Given the description of an element on the screen output the (x, y) to click on. 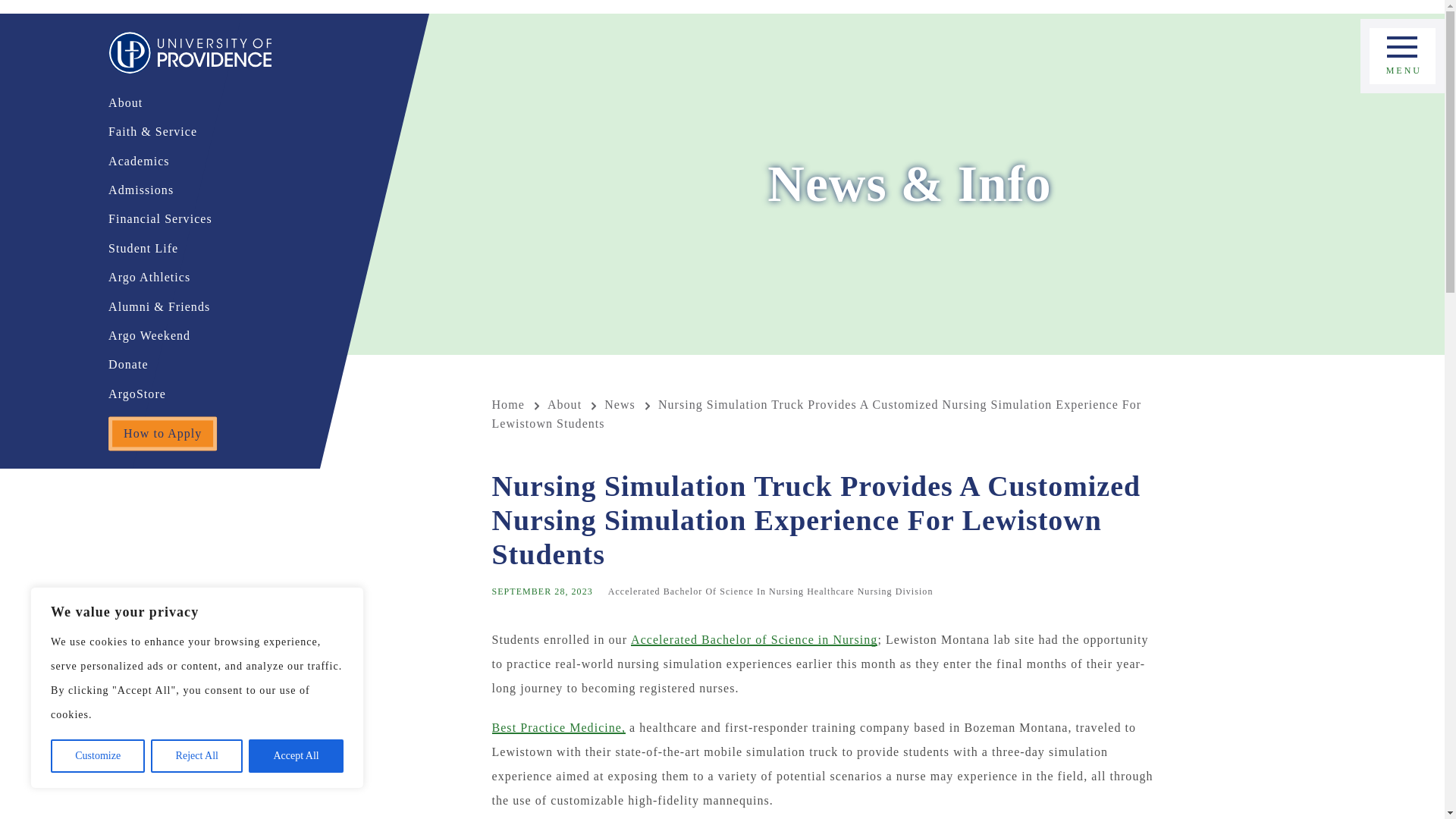
Accept All (295, 756)
Customize (97, 756)
Reject All (197, 756)
Apply Now (1402, 66)
